Given the description of an element on the screen output the (x, y) to click on. 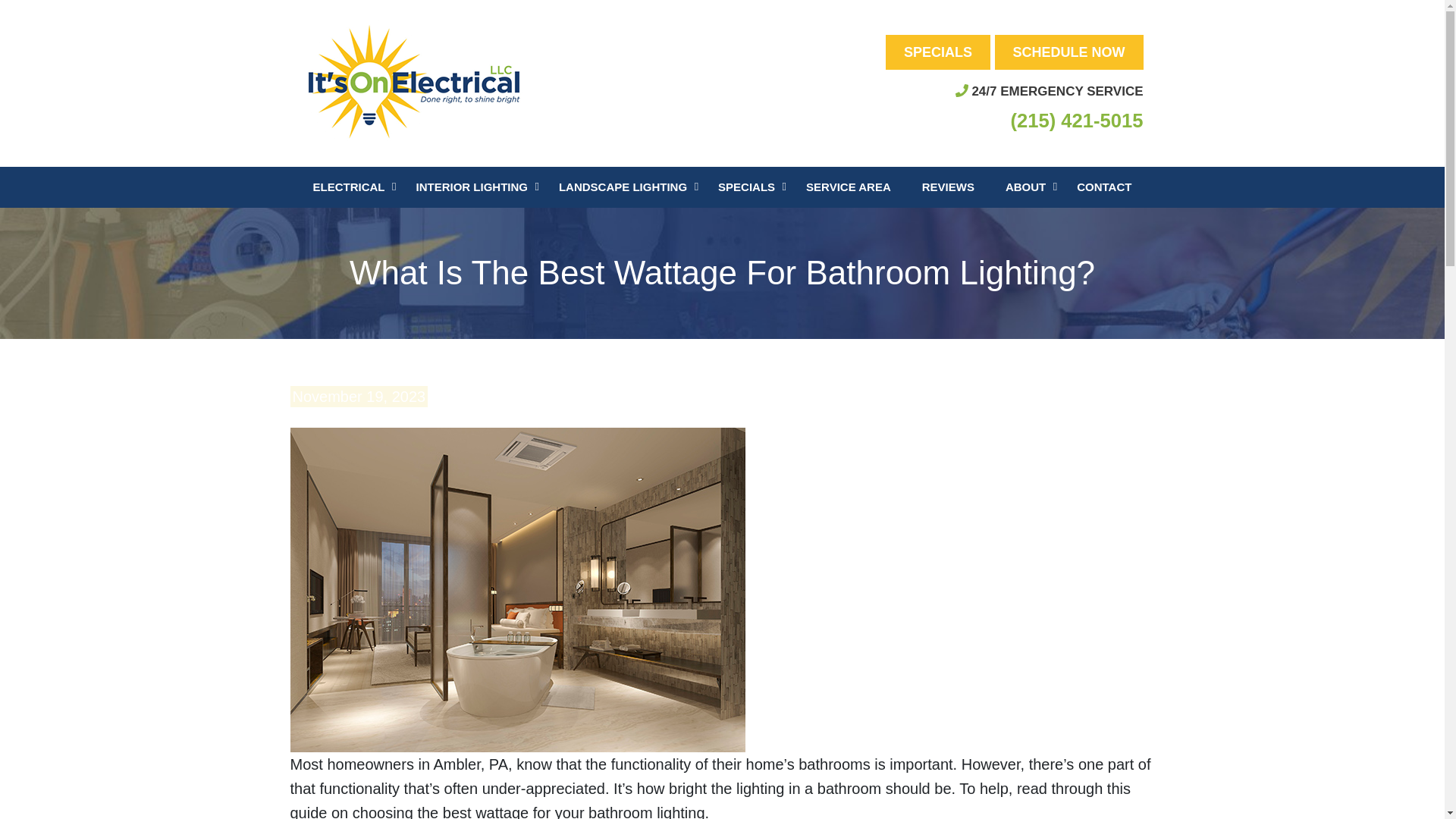
SPECIALS (937, 52)
SCHEDULE NOW (1068, 52)
REVIEWS (948, 187)
It's On Electrical, LLC (415, 81)
SPECIALS (746, 187)
SERVICE AREA (848, 187)
LANDSCAPE LIGHTING (622, 187)
What is the Best Wattage for Bathroom Lighting? (516, 588)
INTERIOR LIGHTING (471, 187)
ELECTRICAL (348, 187)
